Given the description of an element on the screen output the (x, y) to click on. 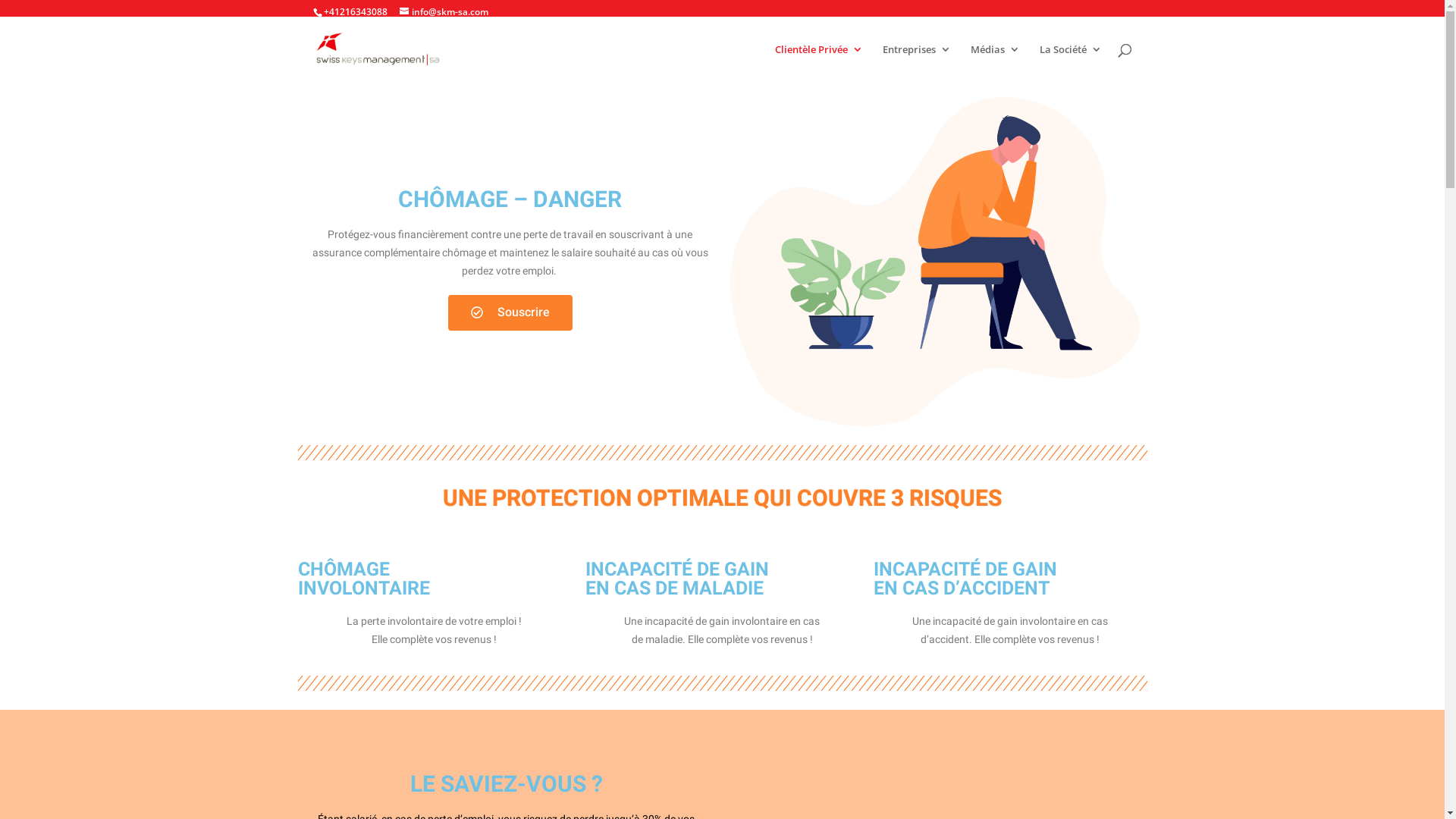
info@skm-sa.com Element type: text (442, 11)
Souscrire Element type: text (509, 312)
Entreprises Element type: text (916, 62)
